Given the description of an element on the screen output the (x, y) to click on. 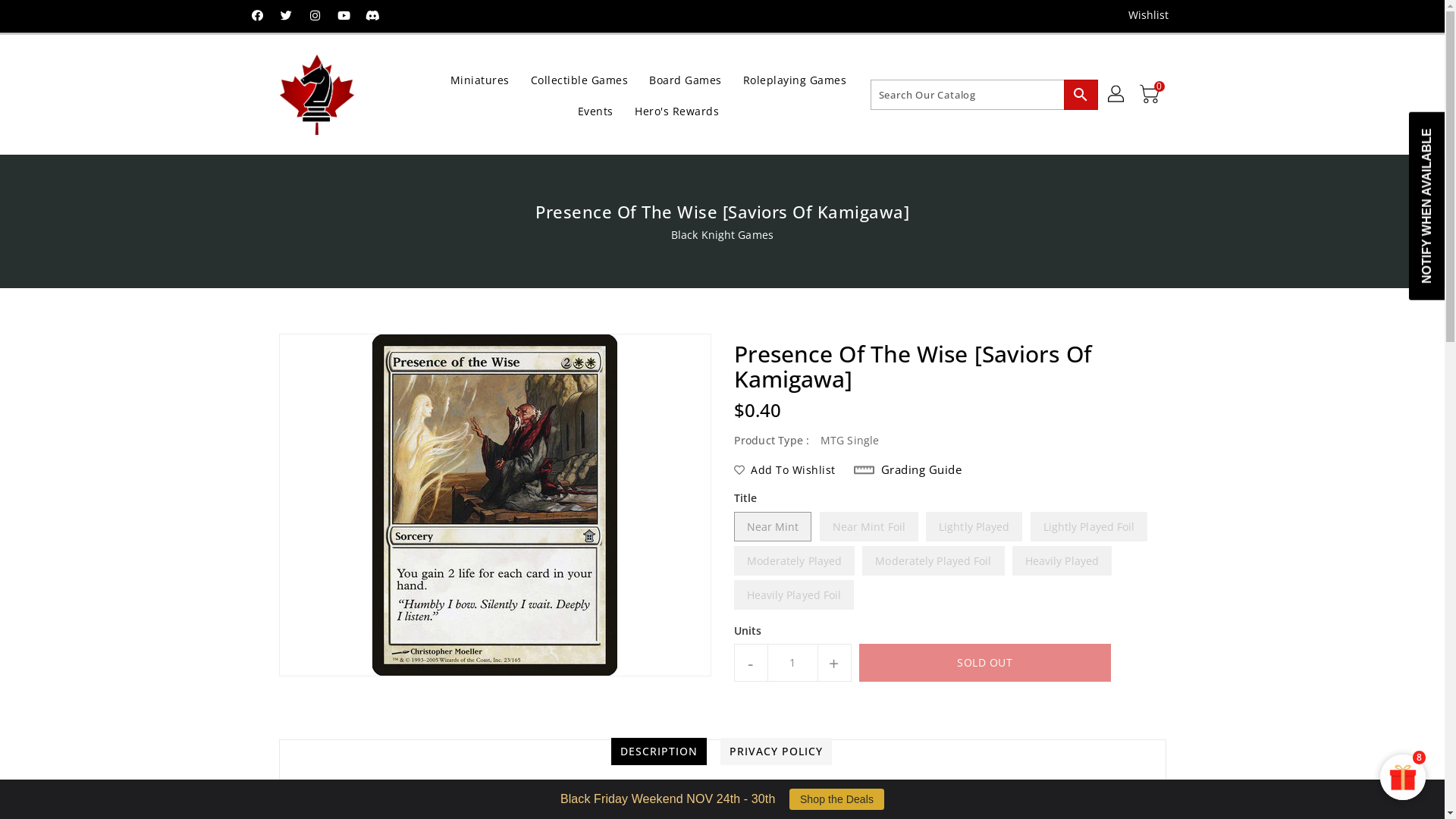
Black Knight Games Element type: text (722, 234)
Roleplaying Games Element type: text (795, 78)
Board Games Element type: text (685, 78)
Black Knight Games on Instagram Element type: hover (315, 14)
Black Knight Games on Facebook Element type: hover (256, 14)
search Element type: text (1080, 94)
Shop the Deals Element type: text (836, 798)
Events Element type: text (595, 109)
Add To Wishlist Element type: text (784, 469)
Black Knight Games on YouTube Element type: hover (343, 14)
8 Element type: text (1402, 777)
Miniatures Element type: text (479, 78)
Black Knight Games on Twitter Element type: hover (286, 14)
Black Knight Games on Discord Element type: hover (372, 14)
Collectible Games Element type: text (579, 78)
Grading Guide Element type: text (907, 469)
SOLD OUT Element type: text (984, 662)
PRIVACY POLICY Element type: text (775, 751)
Hero's Rewards Element type: text (676, 109)
DESCRIPTION Element type: text (658, 751)
Wishlist Element type: text (1143, 15)
